Given the description of an element on the screen output the (x, y) to click on. 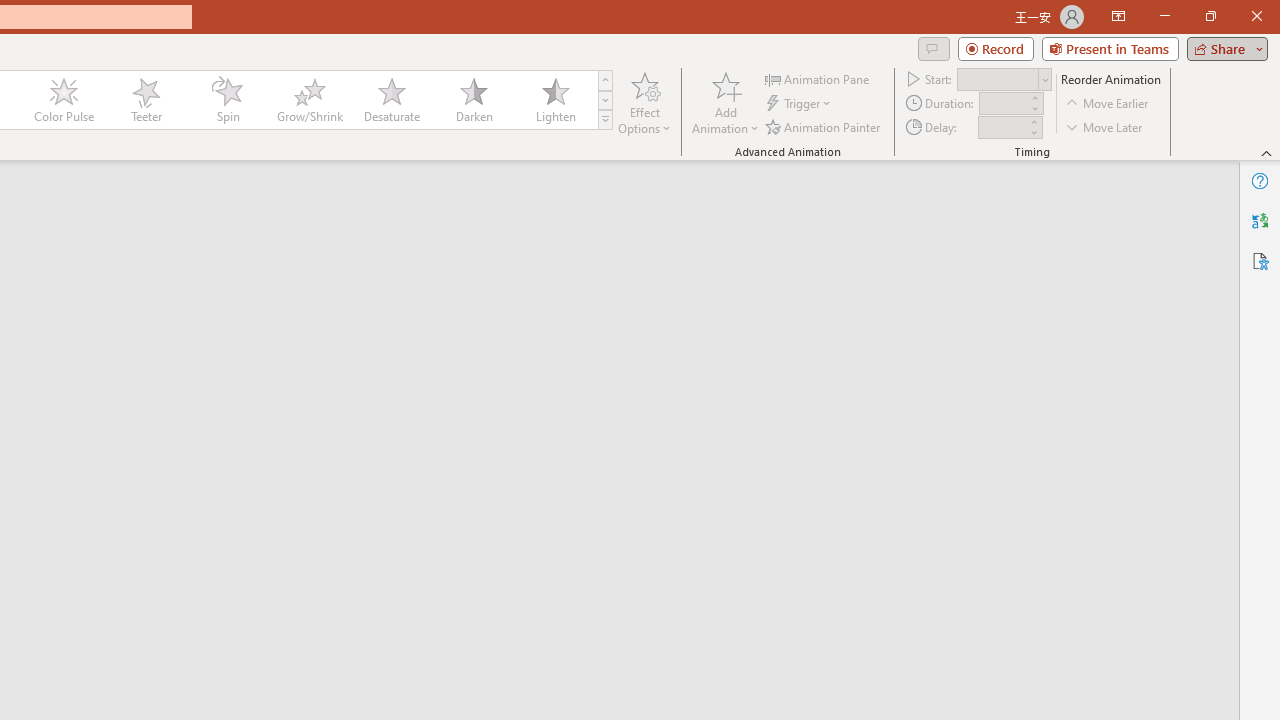
Grow/Shrink (309, 100)
Animation Painter (824, 126)
Animation Pane (818, 78)
Animation Duration (1003, 103)
Darken (473, 100)
Teeter (145, 100)
Move Earlier (1107, 103)
Animation Delay (1002, 127)
